Given the description of an element on the screen output the (x, y) to click on. 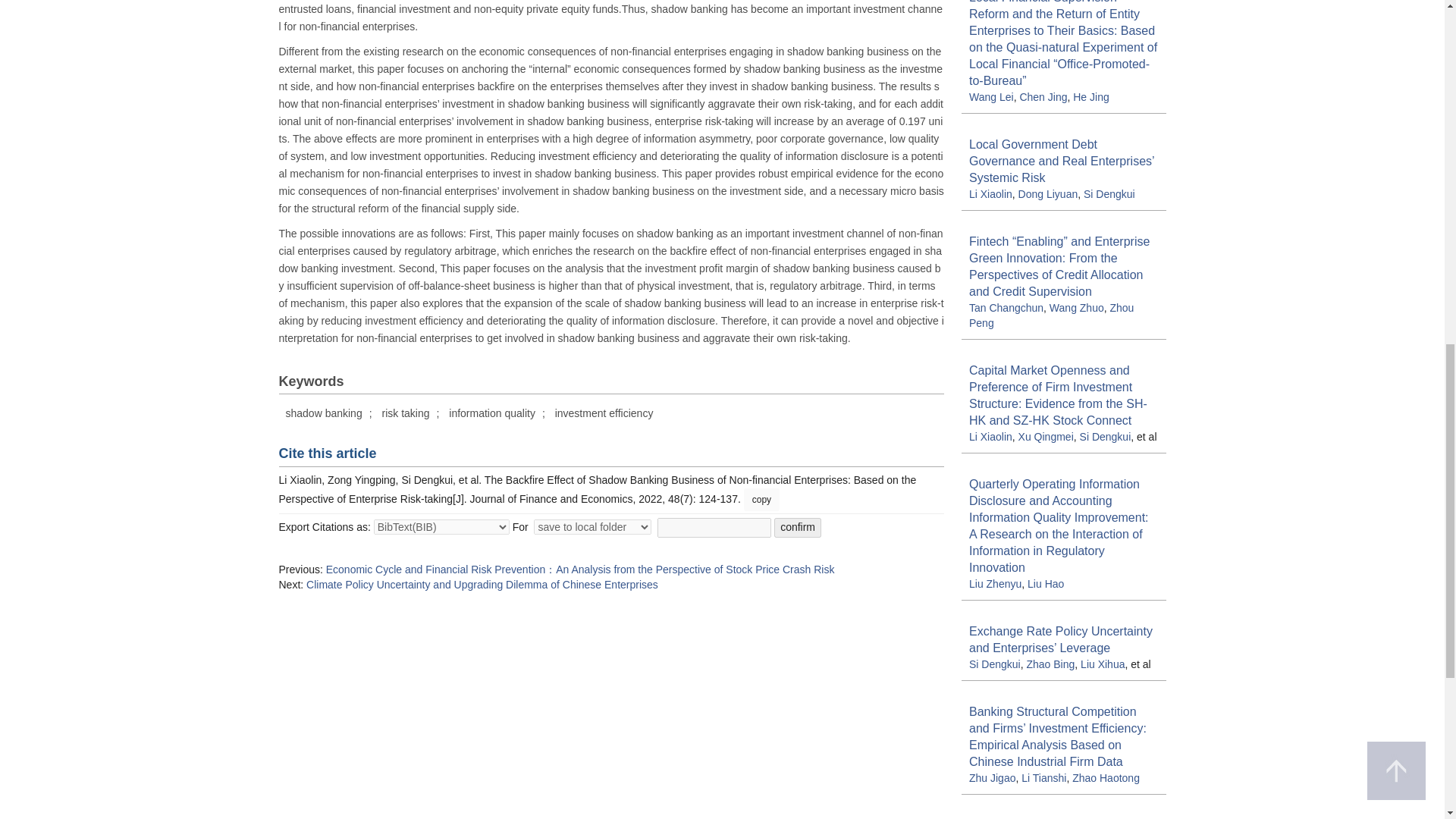
confirm (797, 527)
